Given the description of an element on the screen output the (x, y) to click on. 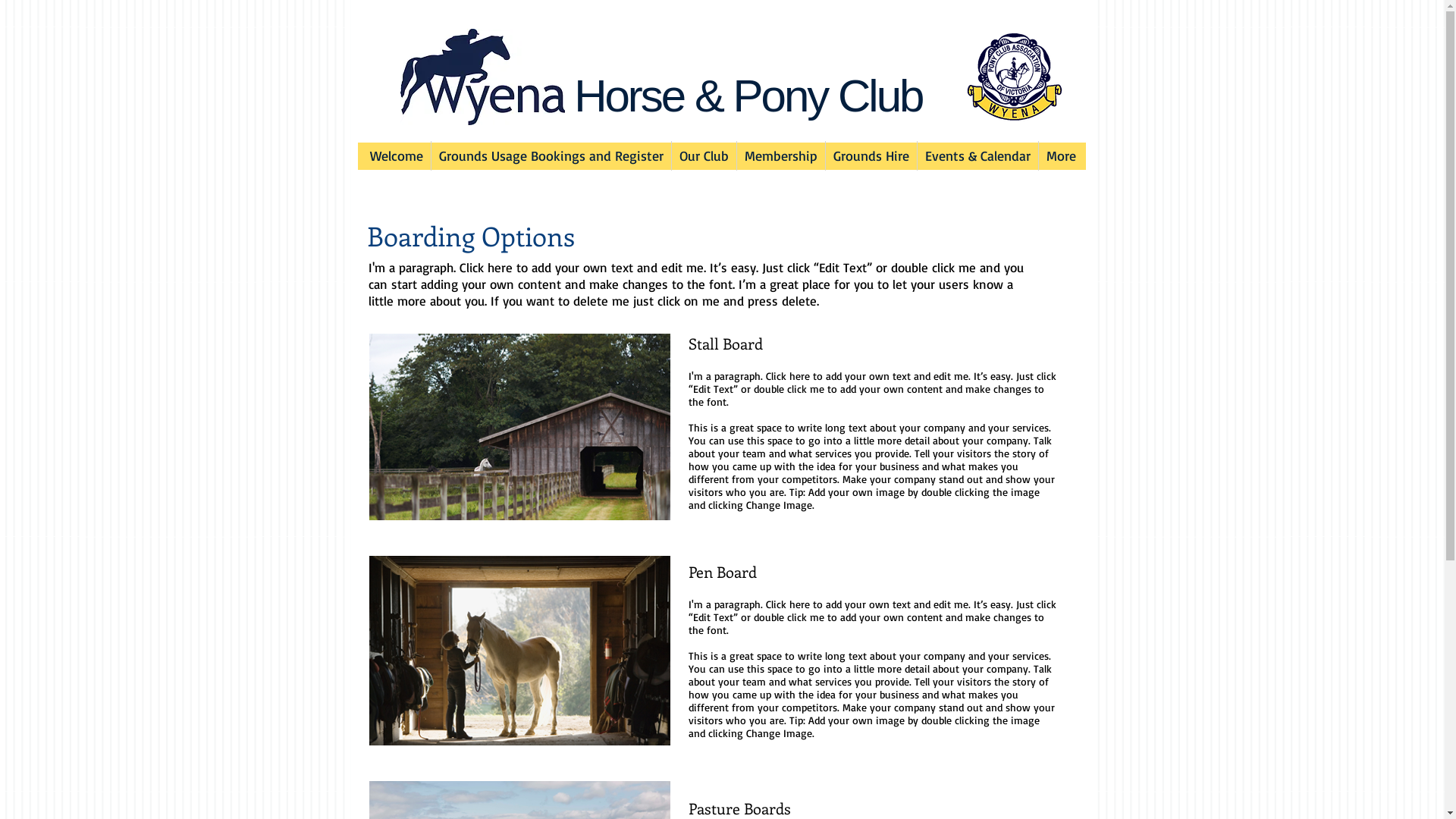
Membership Element type: text (781, 155)
Our Club Element type: text (703, 155)
Welcome Element type: text (396, 155)
Grounds Usage Bookings and Register Element type: text (551, 155)
Grounds Hire Element type: text (870, 155)
Events & Calendar Element type: text (977, 155)
